Given the description of an element on the screen output the (x, y) to click on. 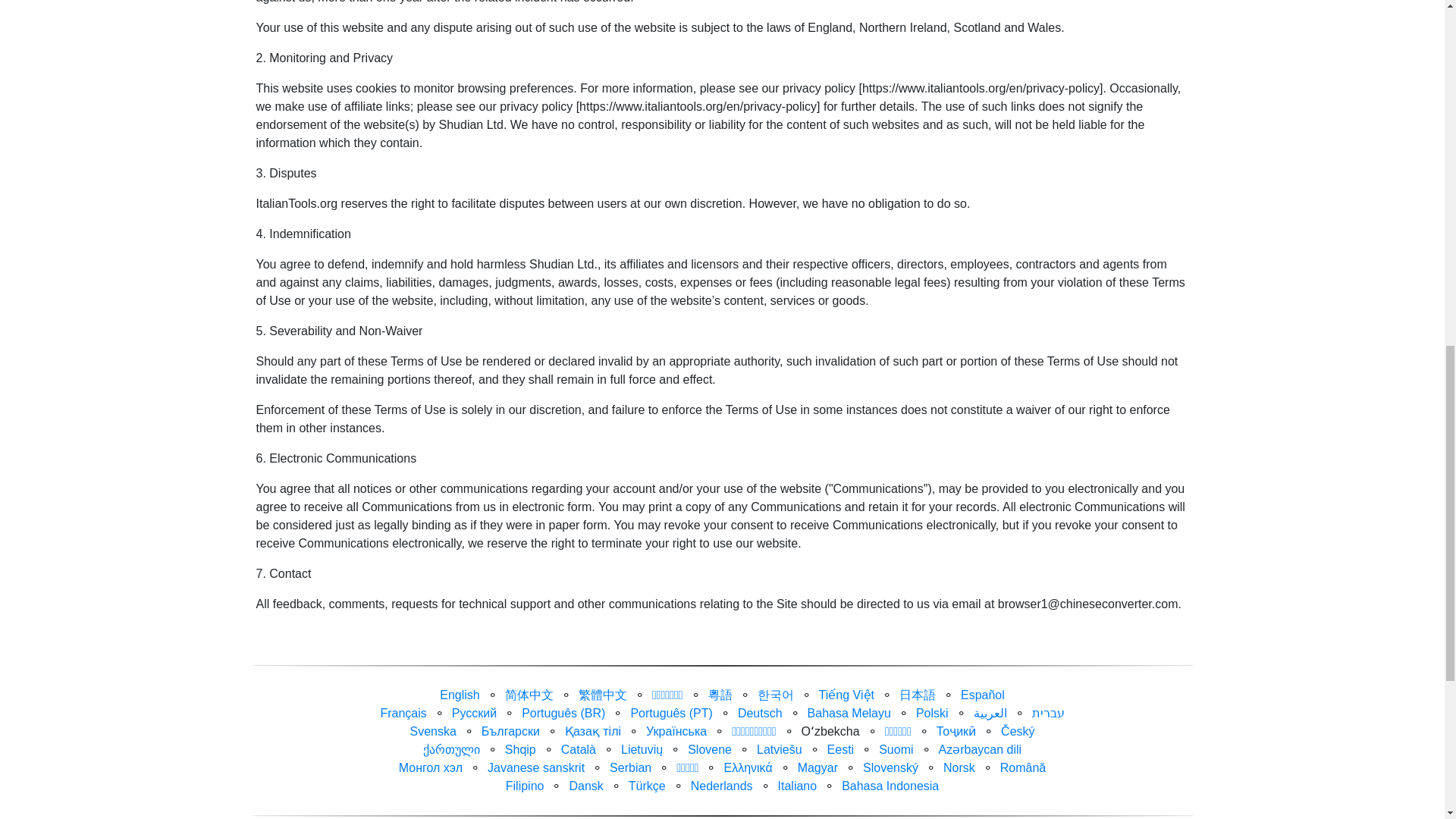
Svenska (432, 730)
Bahasa Melayu (849, 712)
English (459, 694)
Polski (932, 712)
Deutsch (760, 712)
